Given the description of an element on the screen output the (x, y) to click on. 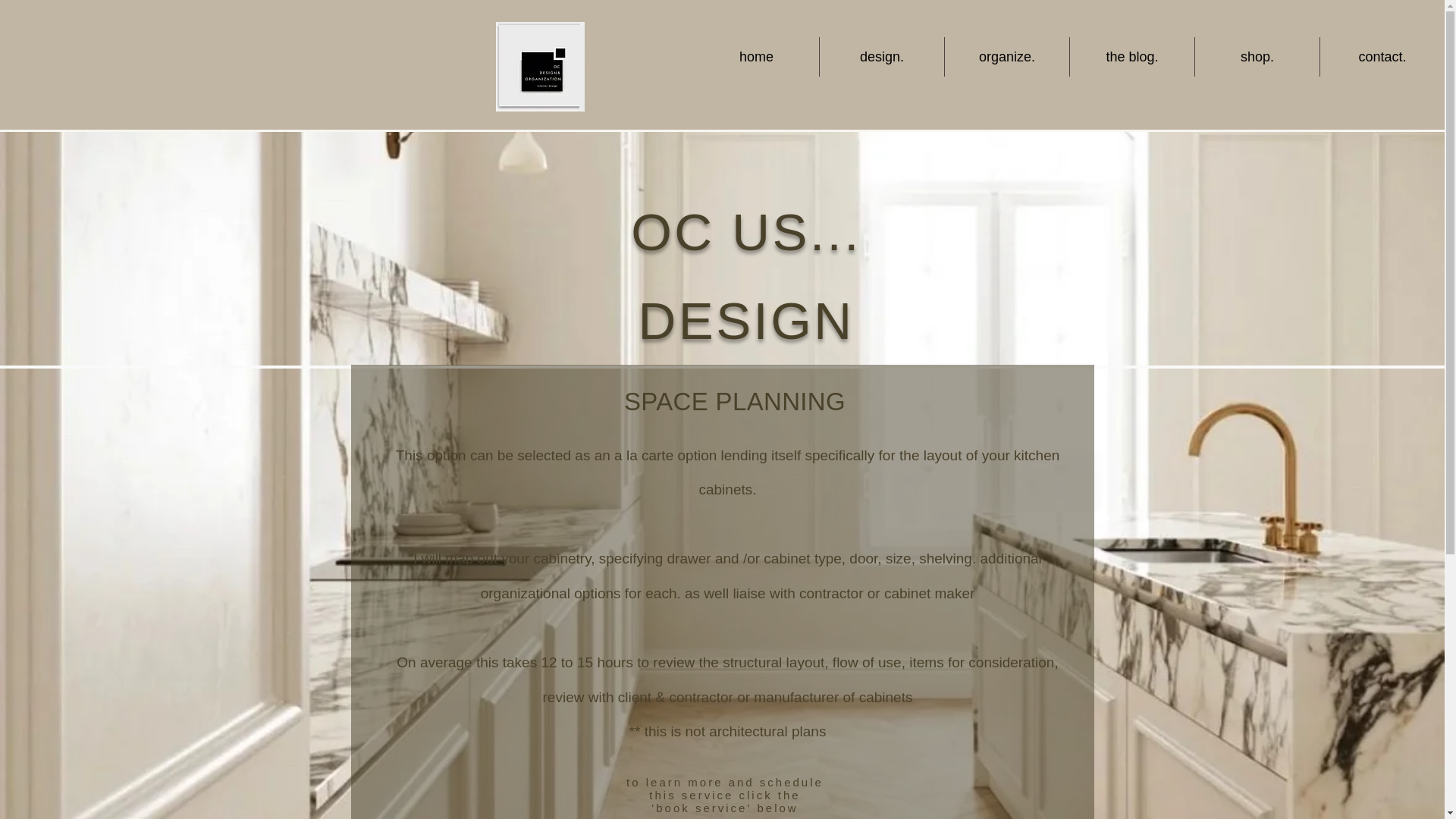
the blog. (1131, 56)
shop. (1257, 56)
organize. (1006, 56)
home (756, 56)
design. (881, 56)
TAUPE NOV 23 LOGO .png (540, 66)
